Given the description of an element on the screen output the (x, y) to click on. 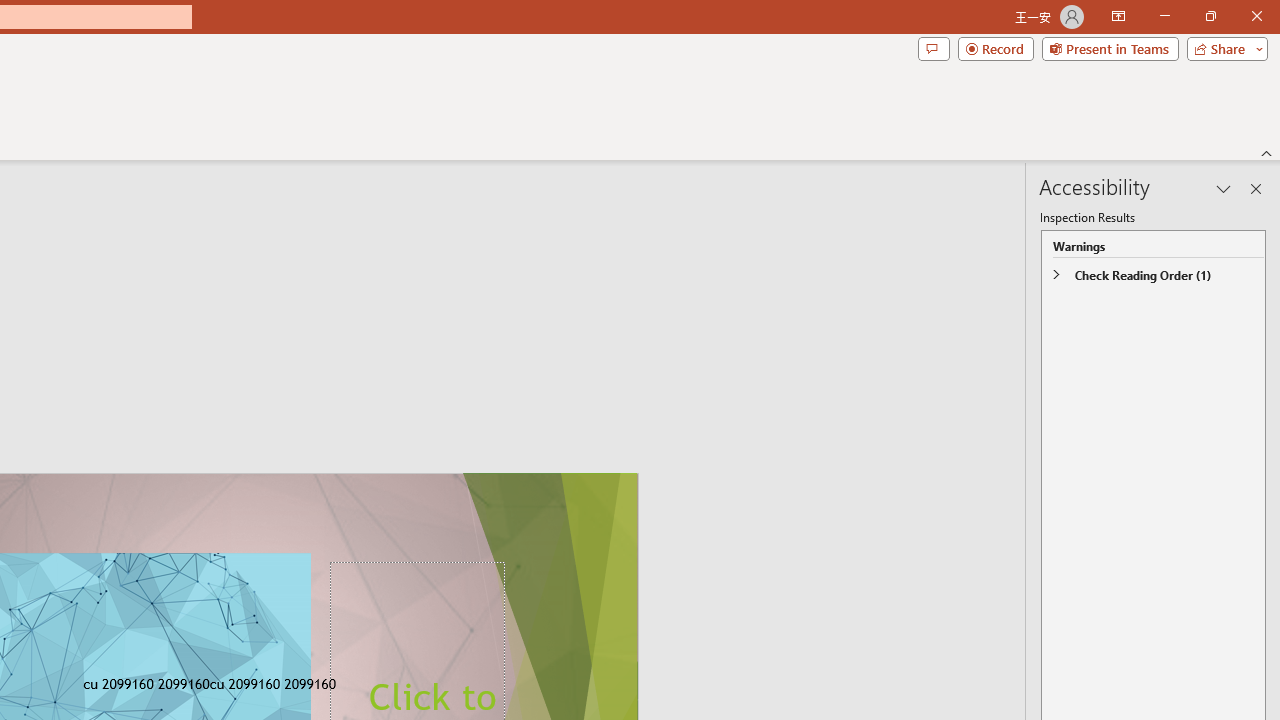
TextBox 61 (262, 686)
